Given the description of an element on the screen output the (x, y) to click on. 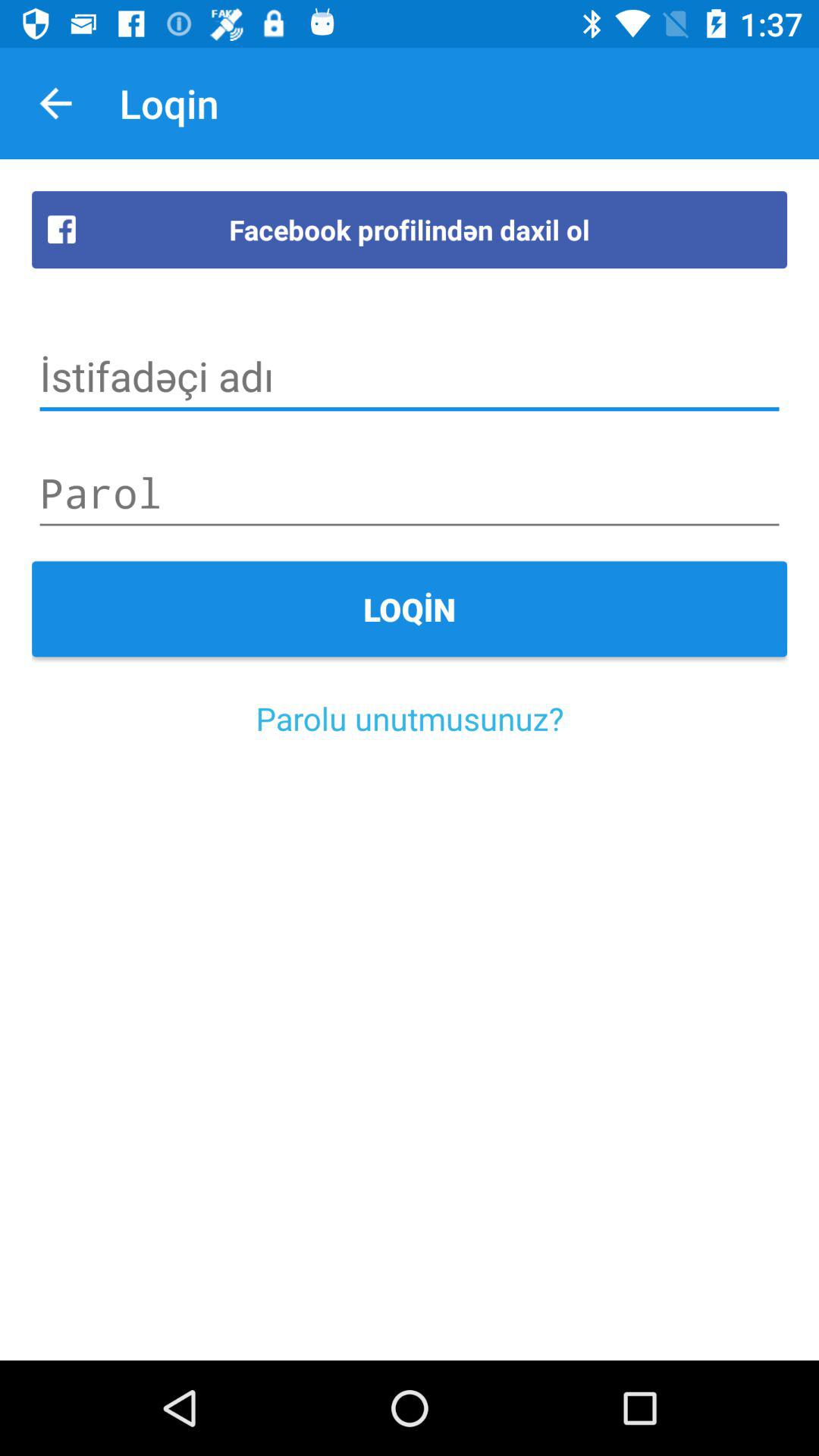
enter your password (409, 492)
